Given the description of an element on the screen output the (x, y) to click on. 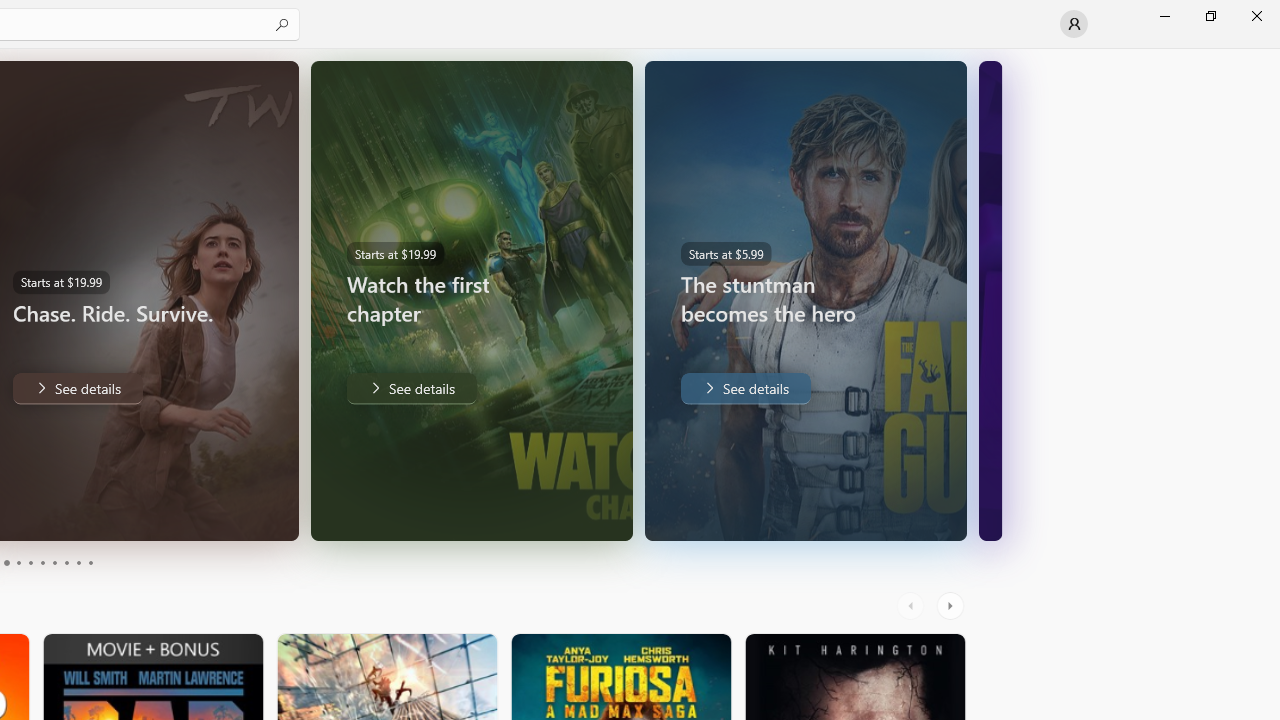
User profile (1073, 24)
AutomationID: LeftScrollButton (913, 606)
